Given the description of an element on the screen output the (x, y) to click on. 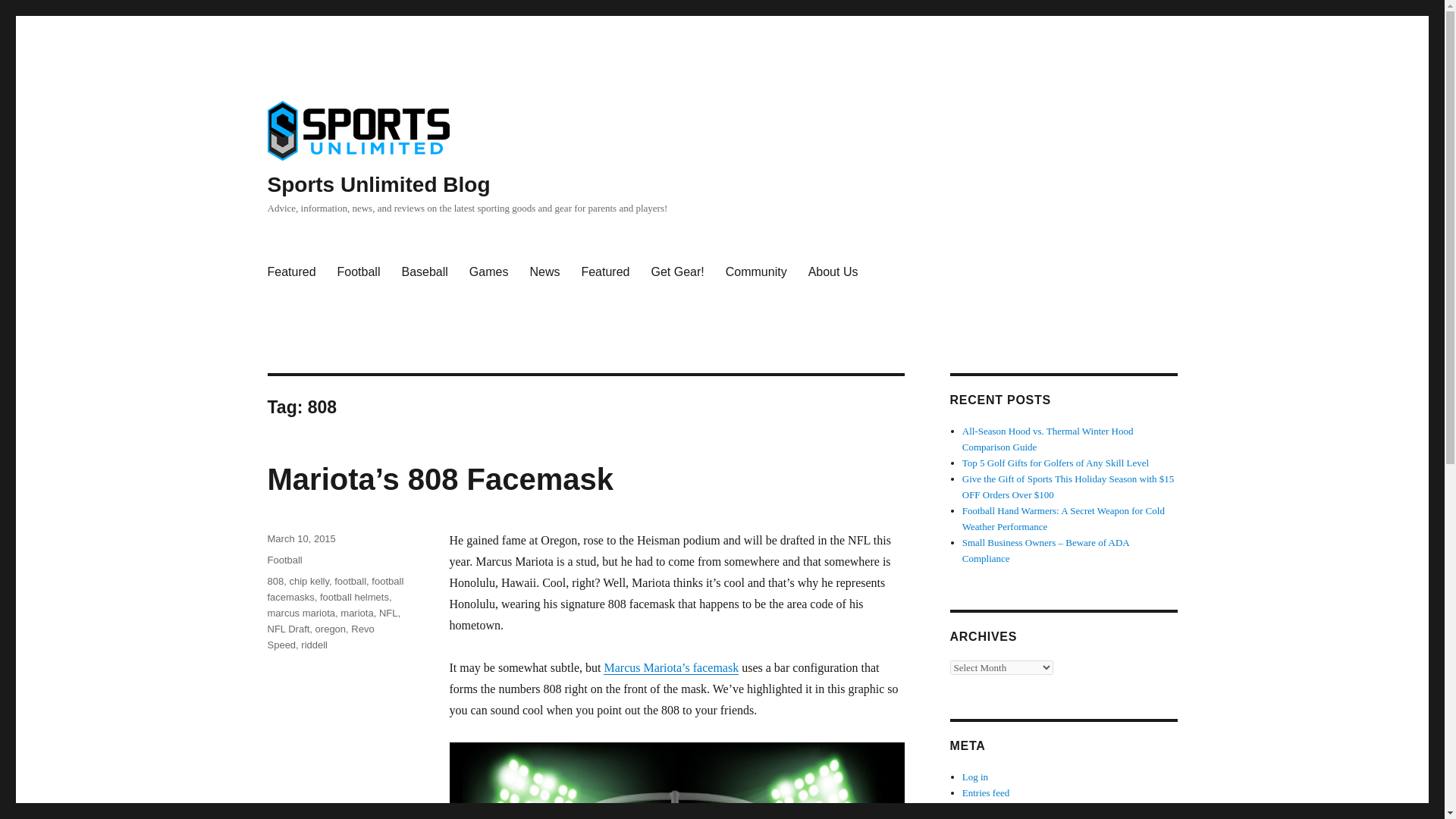
mariota (356, 613)
Revo Speed (320, 636)
football facemasks (334, 588)
Football (358, 272)
Baseball (424, 272)
Featured (605, 272)
NFL Draft (287, 628)
chip kelly (308, 581)
Games (488, 272)
Get Gear! (677, 272)
About Us (833, 272)
marcus mariota (300, 613)
NFL (387, 613)
football helmets (354, 596)
Featured (291, 272)
